Given the description of an element on the screen output the (x, y) to click on. 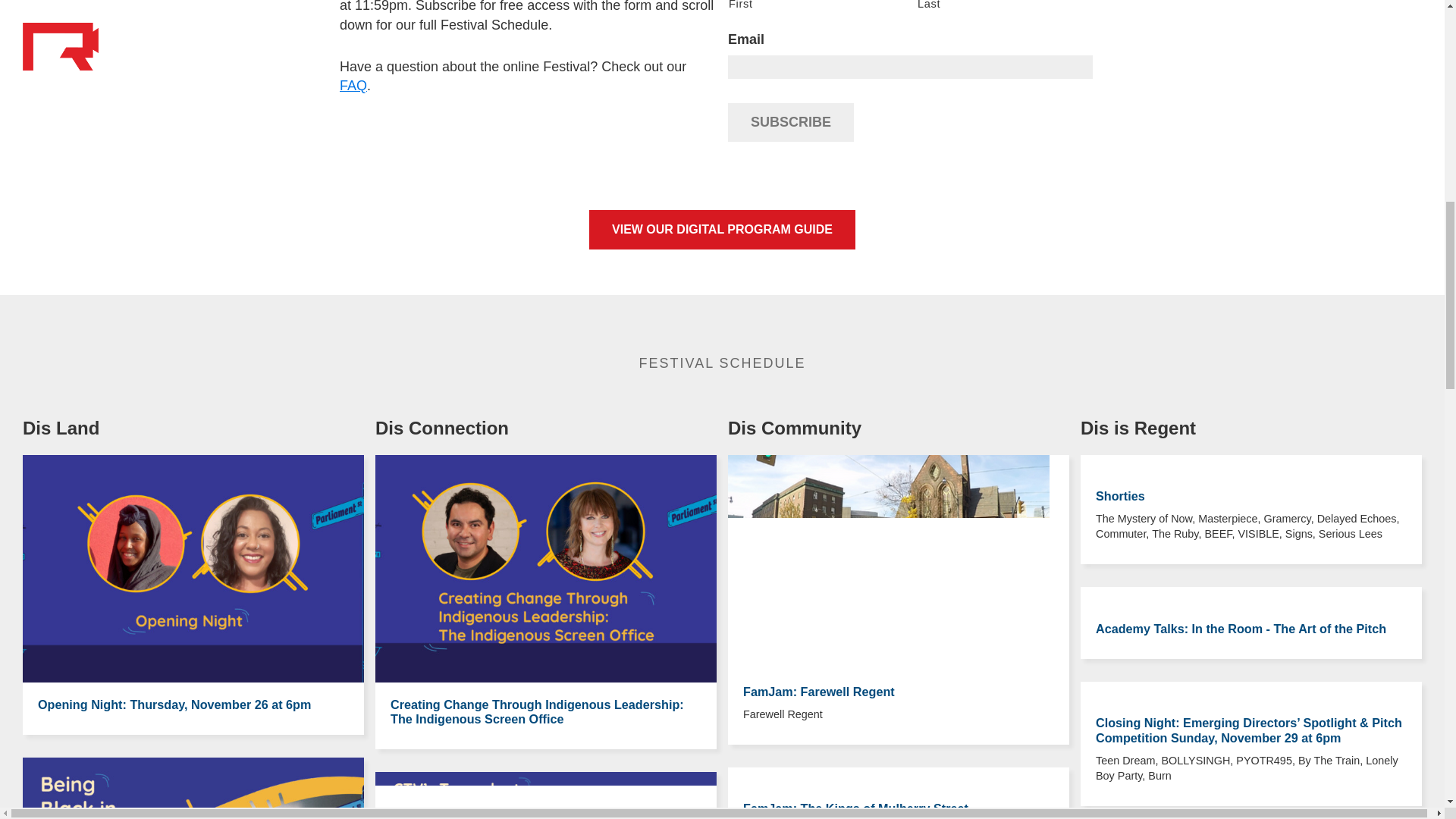
Subscribe (790, 122)
FAQ (352, 85)
FamJam: The Kings of Mulberry Street (855, 807)
FamJam: Farewell Regent (818, 690)
Subscribe (790, 122)
VIEW OUR DIGITAL PROGRAM GUIDE (722, 229)
Opening Night: Thursday, November 26 at 6pm (174, 704)
Shorties (1120, 495)
